Given the description of an element on the screen output the (x, y) to click on. 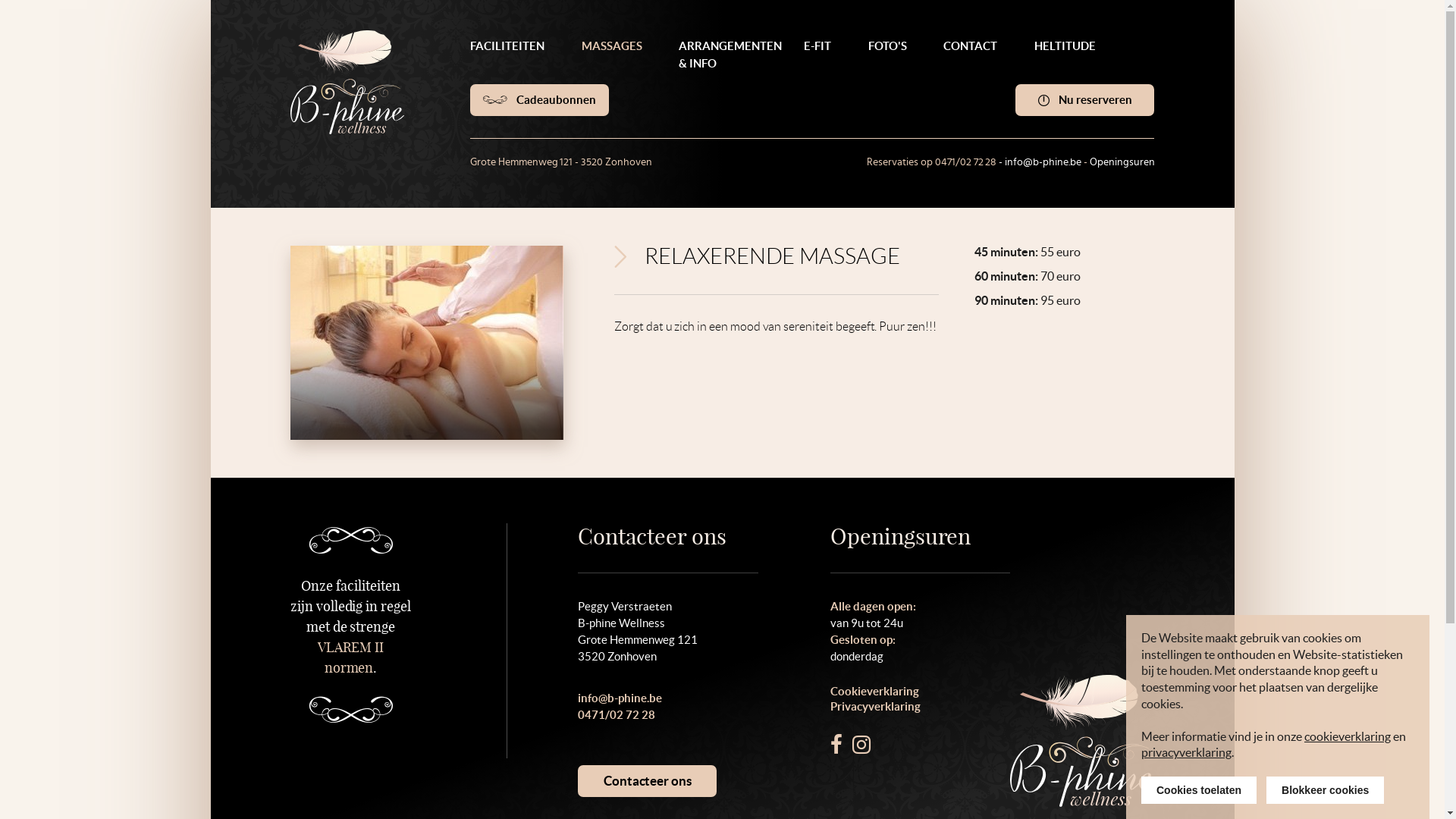
CONTACT Element type: text (977, 53)
ARRANGEMENTEN
& INFO Element type: text (729, 61)
Instagram Element type: hover (861, 744)
MASSAGES Element type: text (619, 53)
Blokkeer cookies Element type: text (1324, 789)
Cadeaubonnen Element type: text (539, 100)
Nu reserveren Element type: text (1084, 100)
privacyverklaring Element type: text (1186, 752)
Openingsuren Element type: text (1121, 161)
Privacyverklaring Element type: text (920, 706)
FOTO'S Element type: text (895, 53)
VLAREM II normen Element type: text (350, 657)
Contacteer ons Element type: text (646, 781)
cookieverklaring Element type: text (1347, 736)
E-FIT Element type: text (824, 53)
info@b-phine.be Element type: text (1042, 161)
0471/02 72 28 Element type: text (966, 161)
info@b-phine.be Element type: text (619, 697)
Cookieverklaring Element type: text (920, 691)
Facebook Element type: hover (836, 744)
0471/02 72 28 Element type: text (616, 714)
HELTITUDE Element type: text (1072, 53)
Cookies toelaten Element type: text (1198, 789)
FACILITEITEN Element type: text (514, 53)
